Given the description of an element on the screen output the (x, y) to click on. 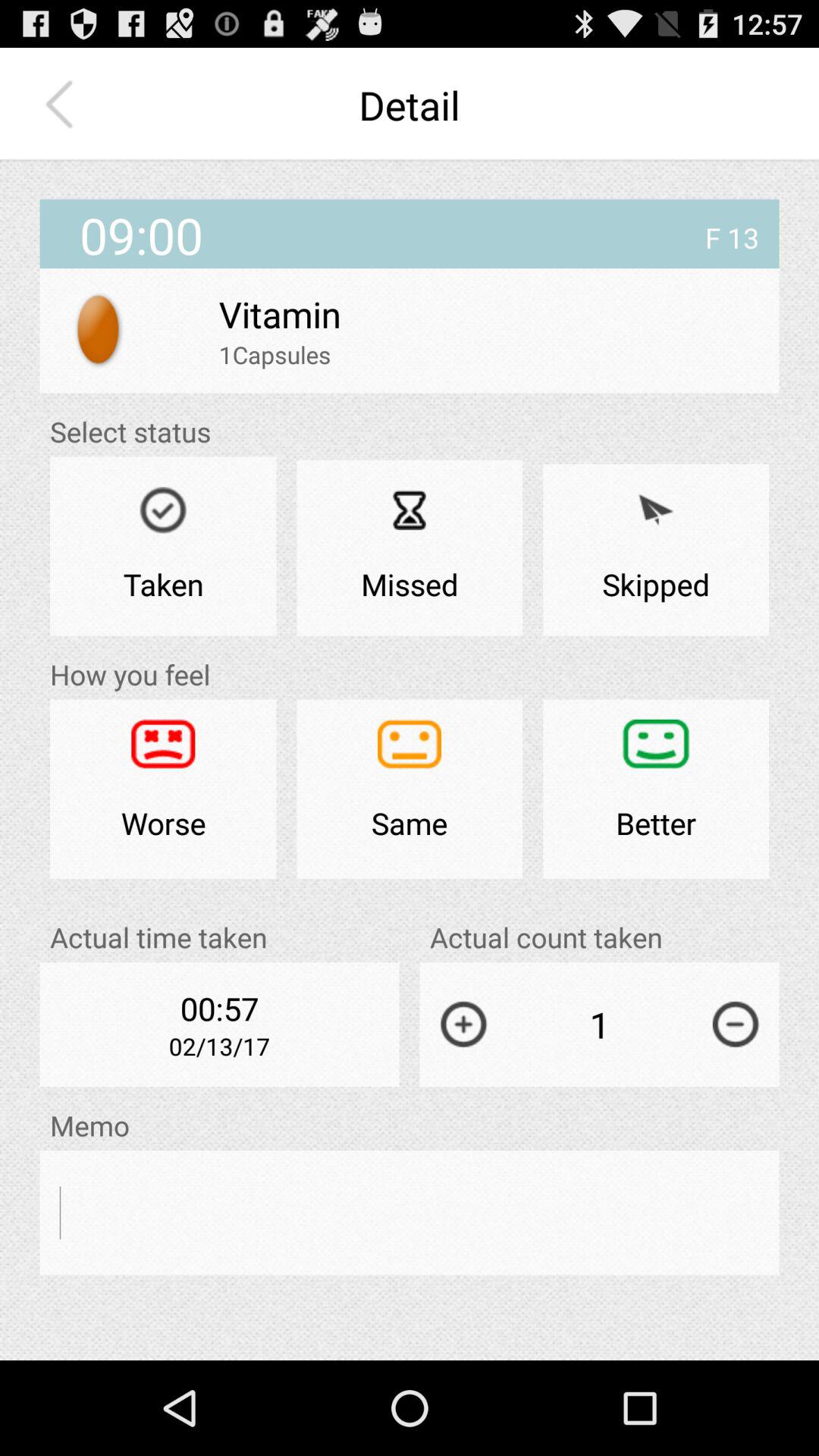
tap the app below missed (409, 788)
